Given the description of an element on the screen output the (x, y) to click on. 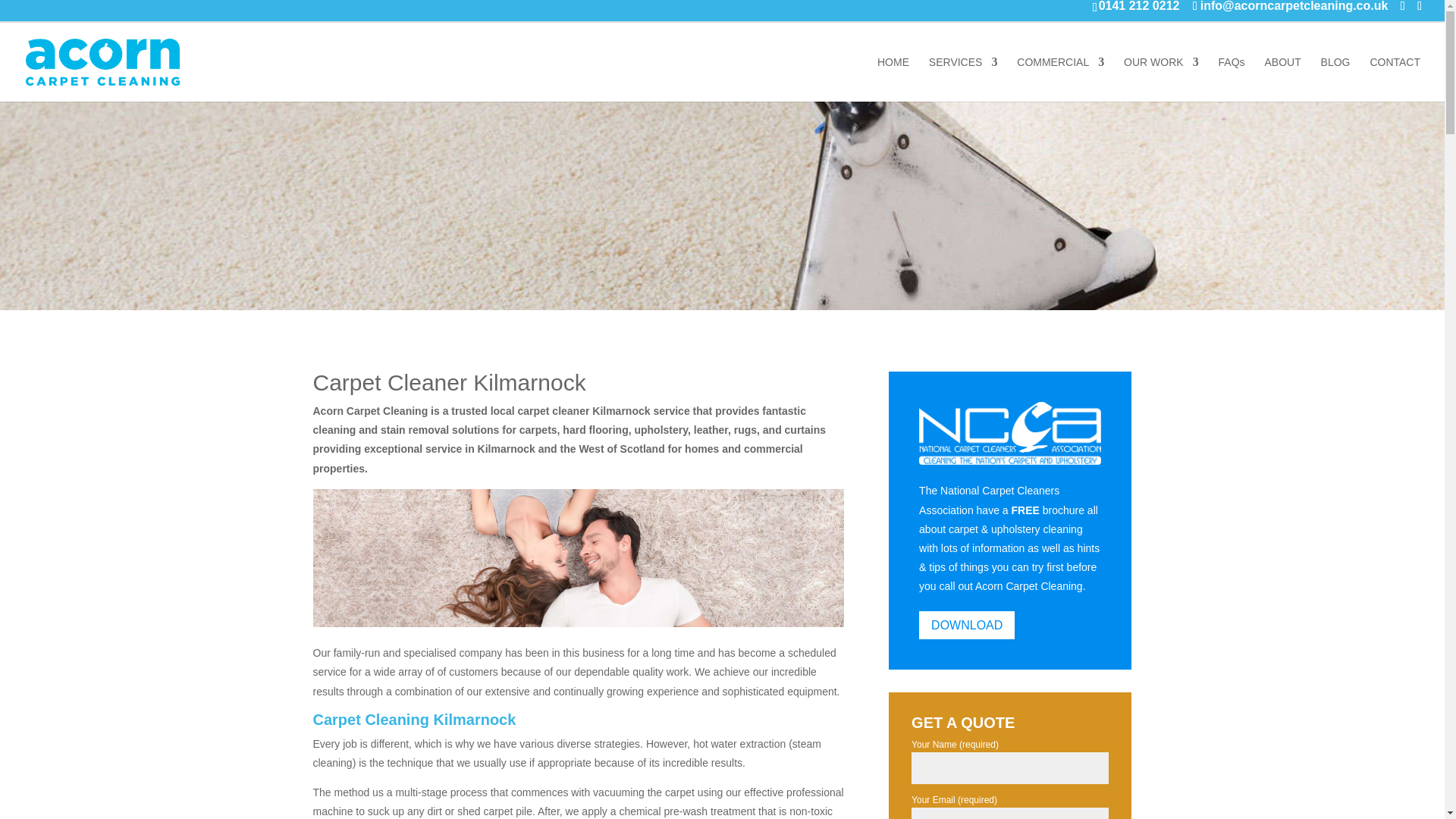
CONTACT (1395, 78)
SERVICES (962, 78)
OUR WORK (1161, 78)
COMMERCIAL (1059, 78)
